Given the description of an element on the screen output the (x, y) to click on. 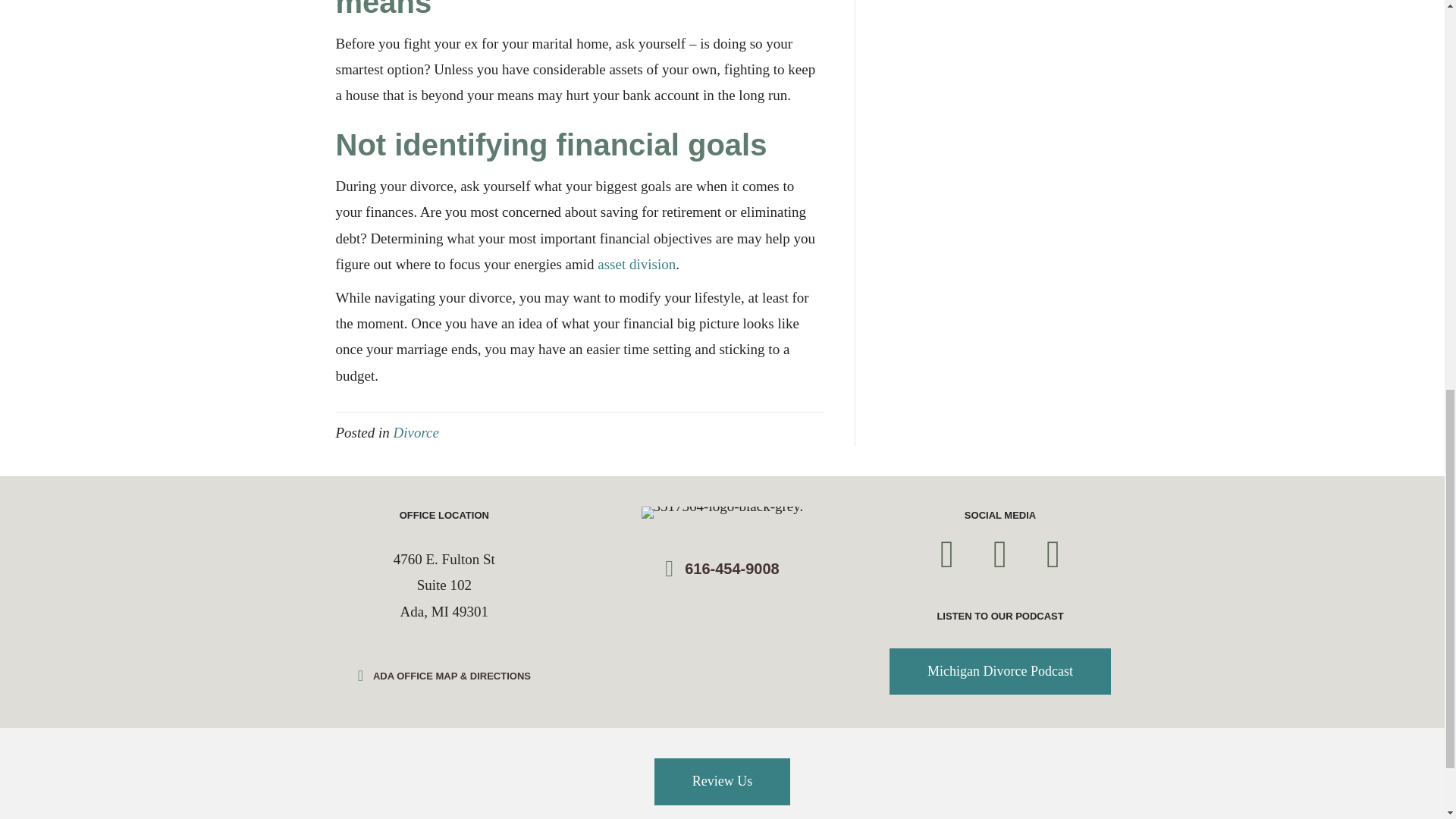
3517564-logo-black-grey. (722, 512)
asset division (635, 263)
Divorce (416, 432)
